Given the description of an element on the screen output the (x, y) to click on. 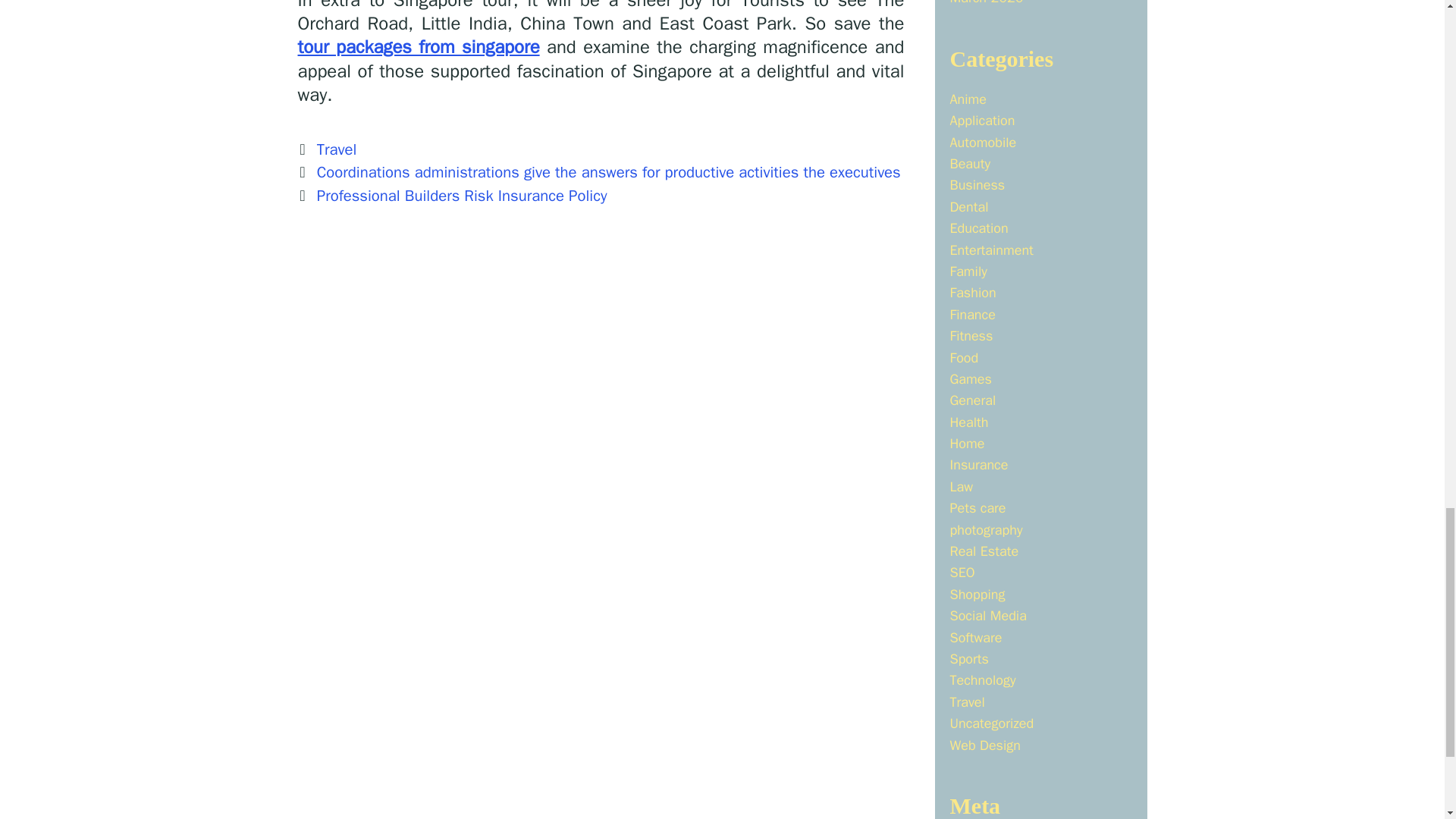
Travel (336, 148)
Professional Builders Risk Insurance Policy (462, 195)
Next (452, 195)
Previous (598, 171)
tour packages from singapore (417, 47)
